Given the description of an element on the screen output the (x, y) to click on. 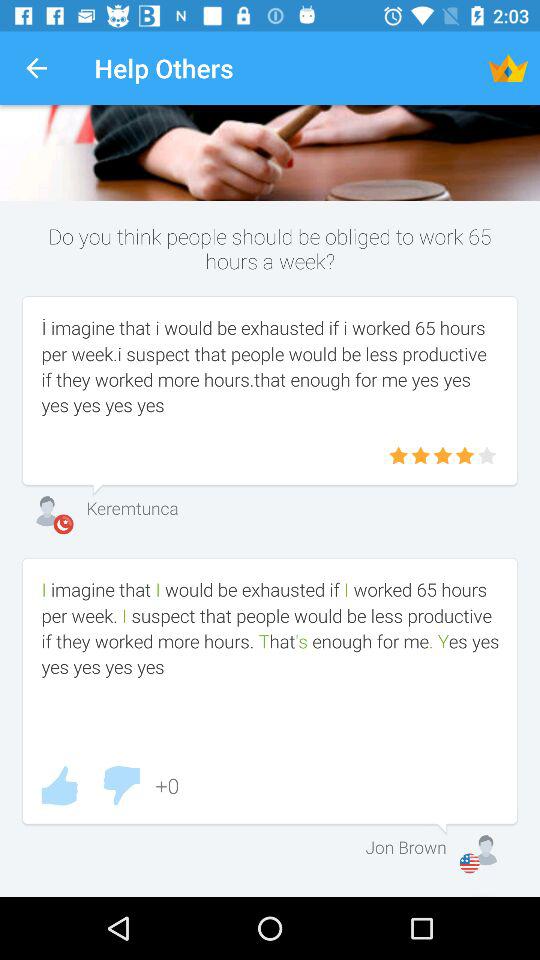
would like that comment (59, 785)
